Given the description of an element on the screen output the (x, y) to click on. 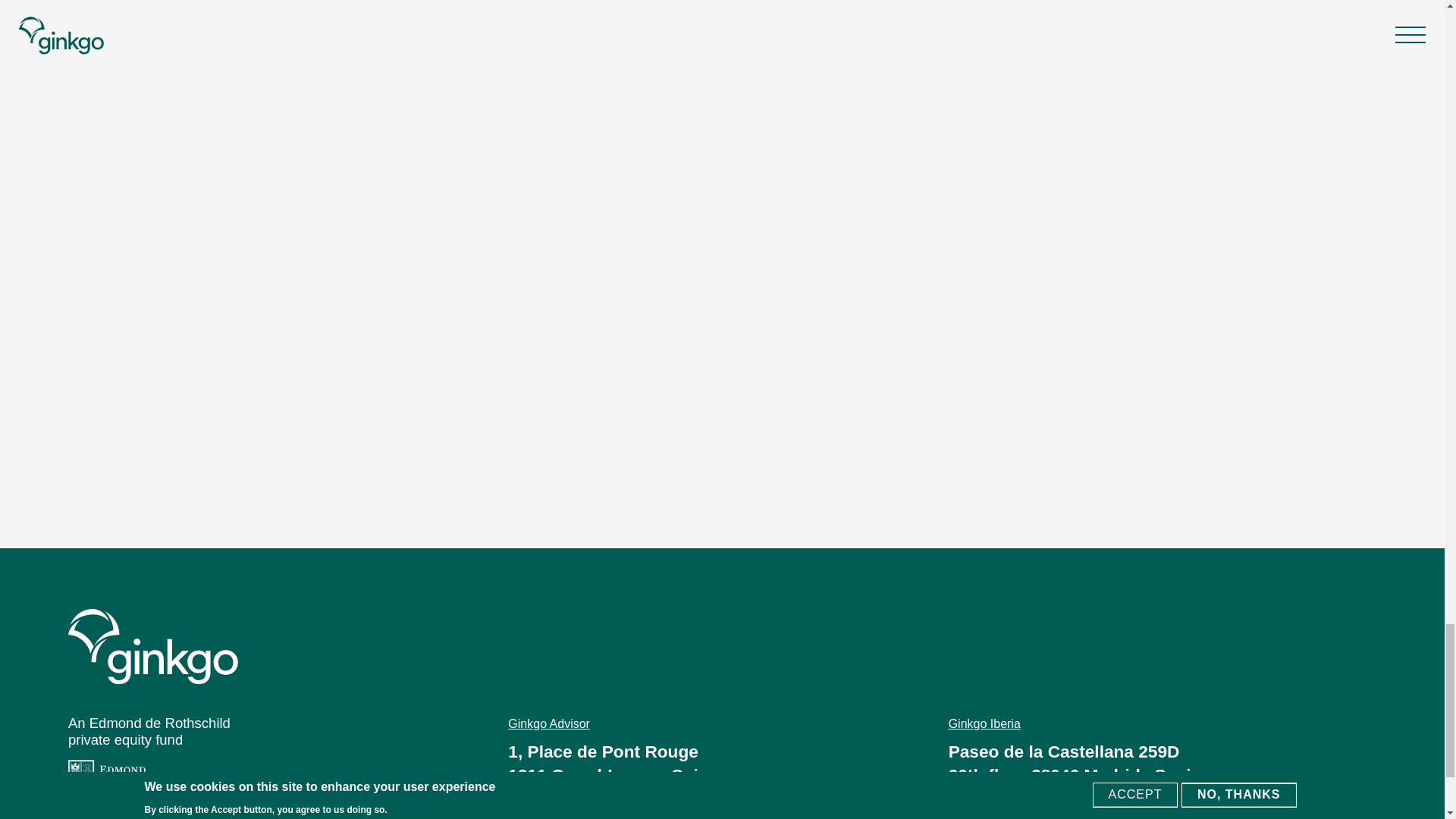
Home (721, 646)
Disclaimer (96, 814)
